Given the description of an element on the screen output the (x, y) to click on. 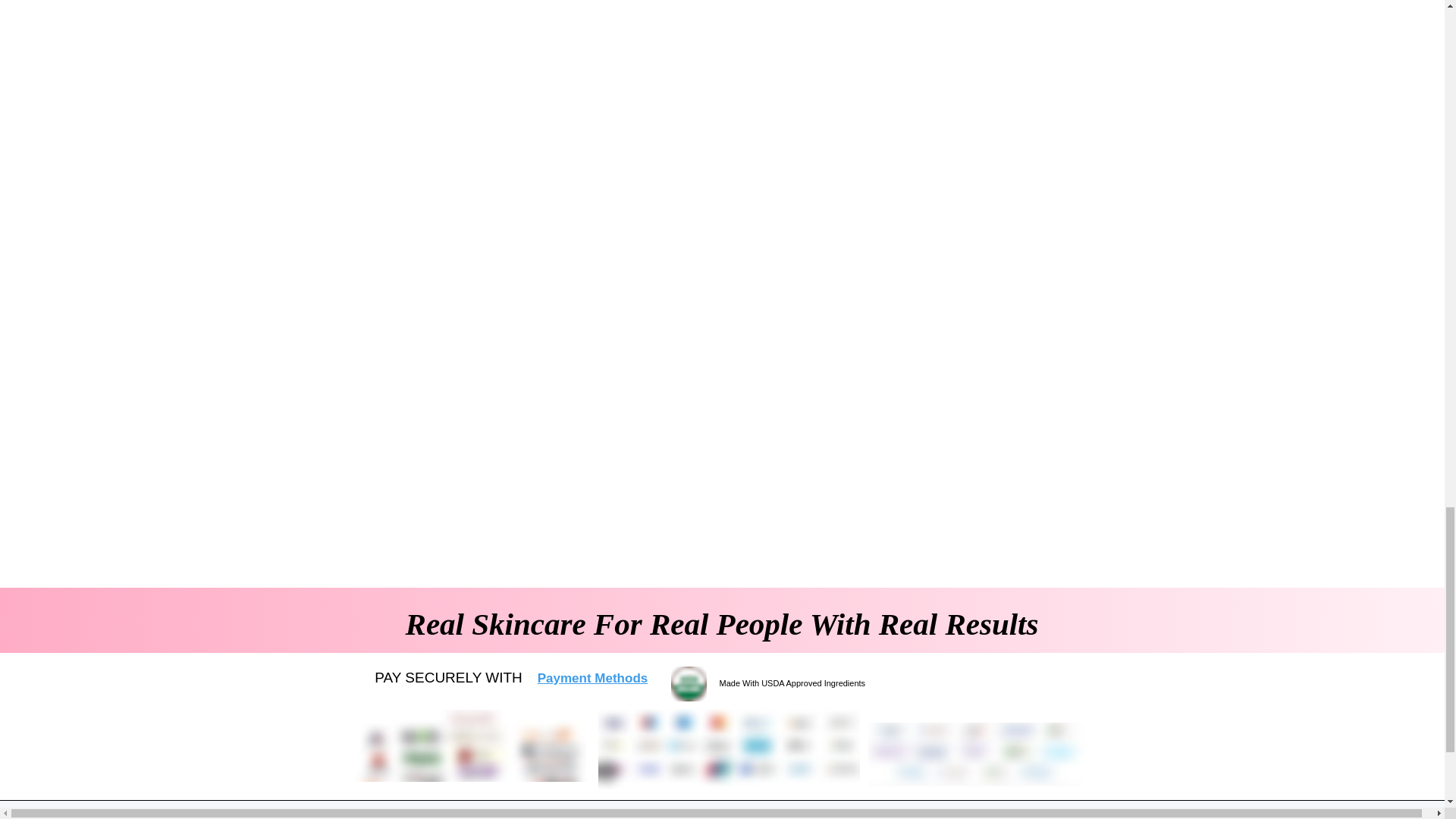
Payment Methods (592, 677)
